Given the description of an element on the screen output the (x, y) to click on. 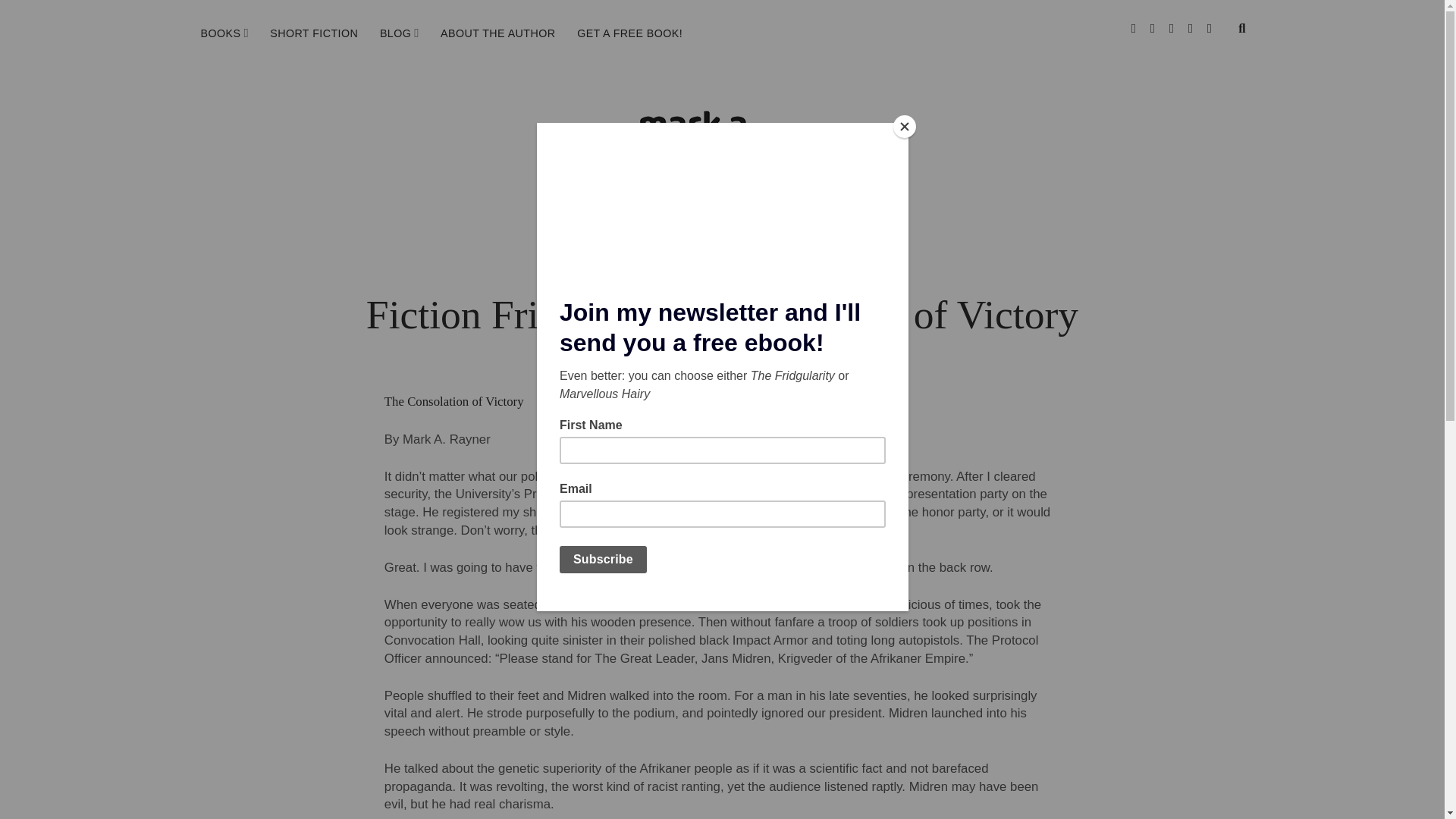
mark a. rayner (721, 163)
ABOUT THE AUTHOR (497, 33)
BLOG (395, 33)
BOOKS (219, 33)
GET A FREE BOOK! (629, 33)
Blog, News and Reviews (395, 33)
Short Fiction  (313, 33)
SHORT FICTION (313, 33)
